Given the description of an element on the screen output the (x, y) to click on. 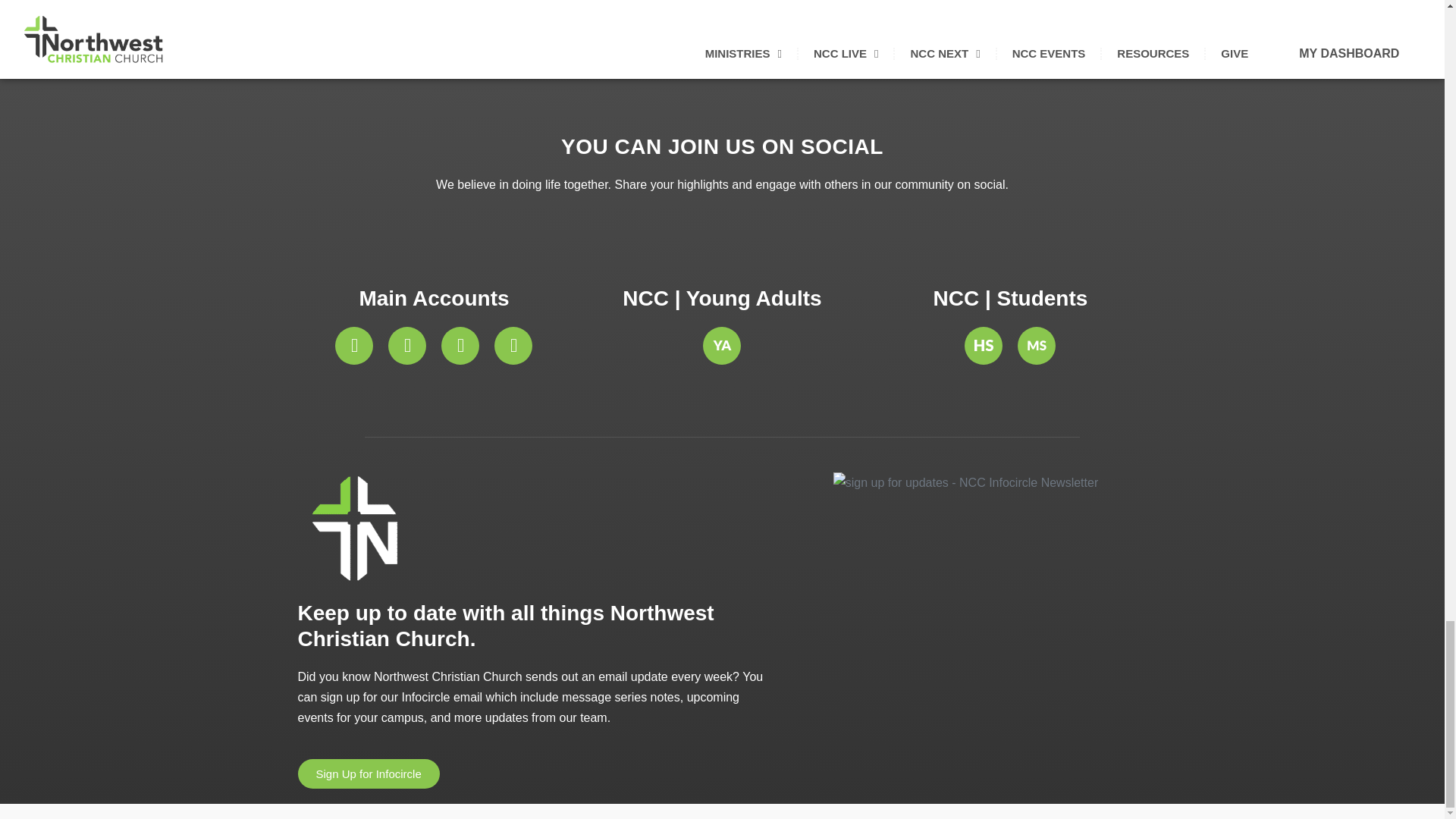
Infocircle-transparent-footer-graphic (964, 482)
